Given the description of an element on the screen output the (x, y) to click on. 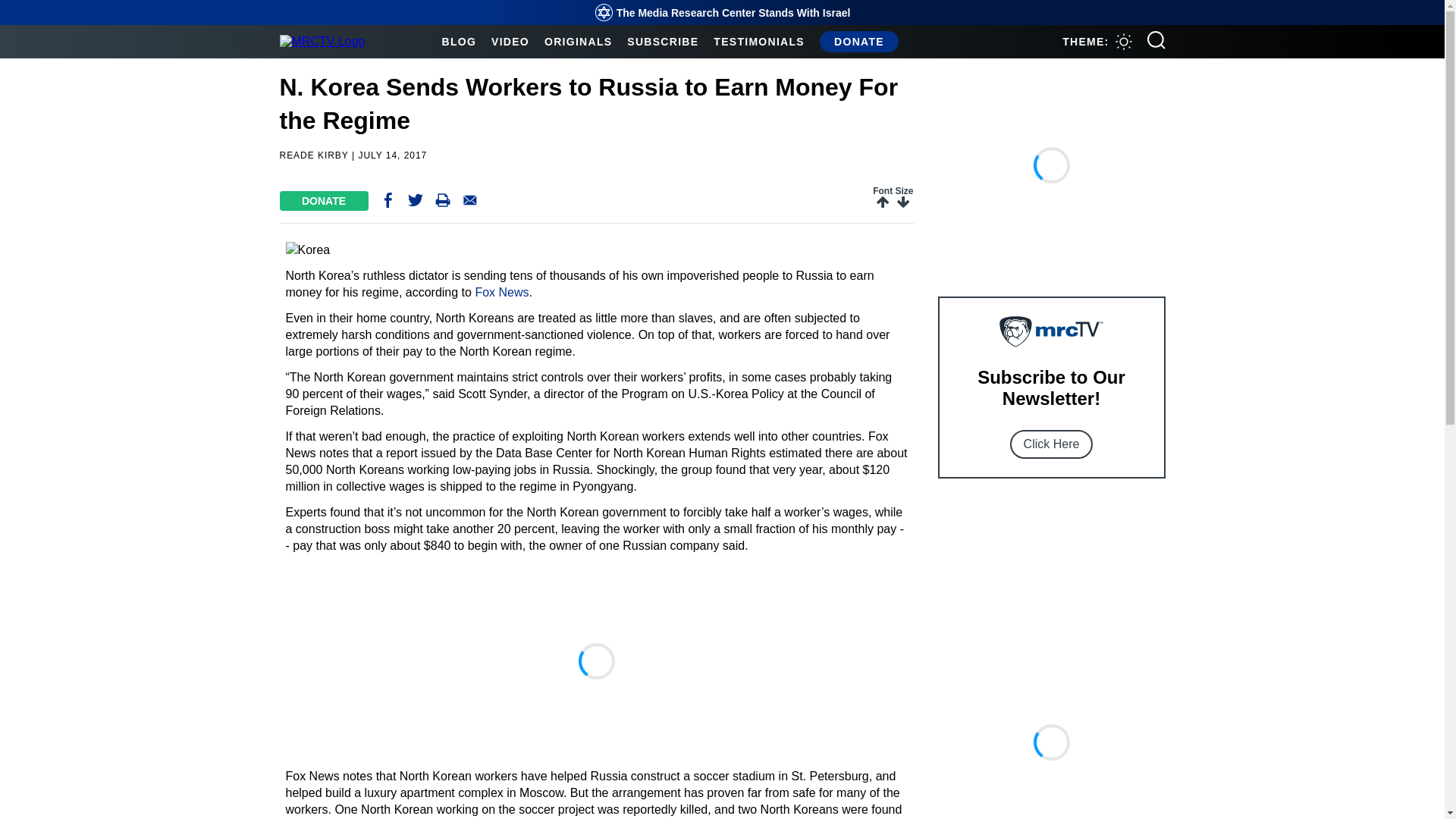
View user profile. (313, 154)
THEME: (1096, 41)
ORIGINALS (577, 41)
Fox News (501, 291)
TESTIMONIALS (759, 41)
DONATE (858, 41)
Click Here (1051, 443)
Email This Blog (470, 203)
DONATE (323, 200)
BLOG (458, 41)
SUBSCRIBE (662, 41)
READE KIRBY (313, 154)
VIDEO (510, 41)
Print Page (442, 203)
